Given the description of an element on the screen output the (x, y) to click on. 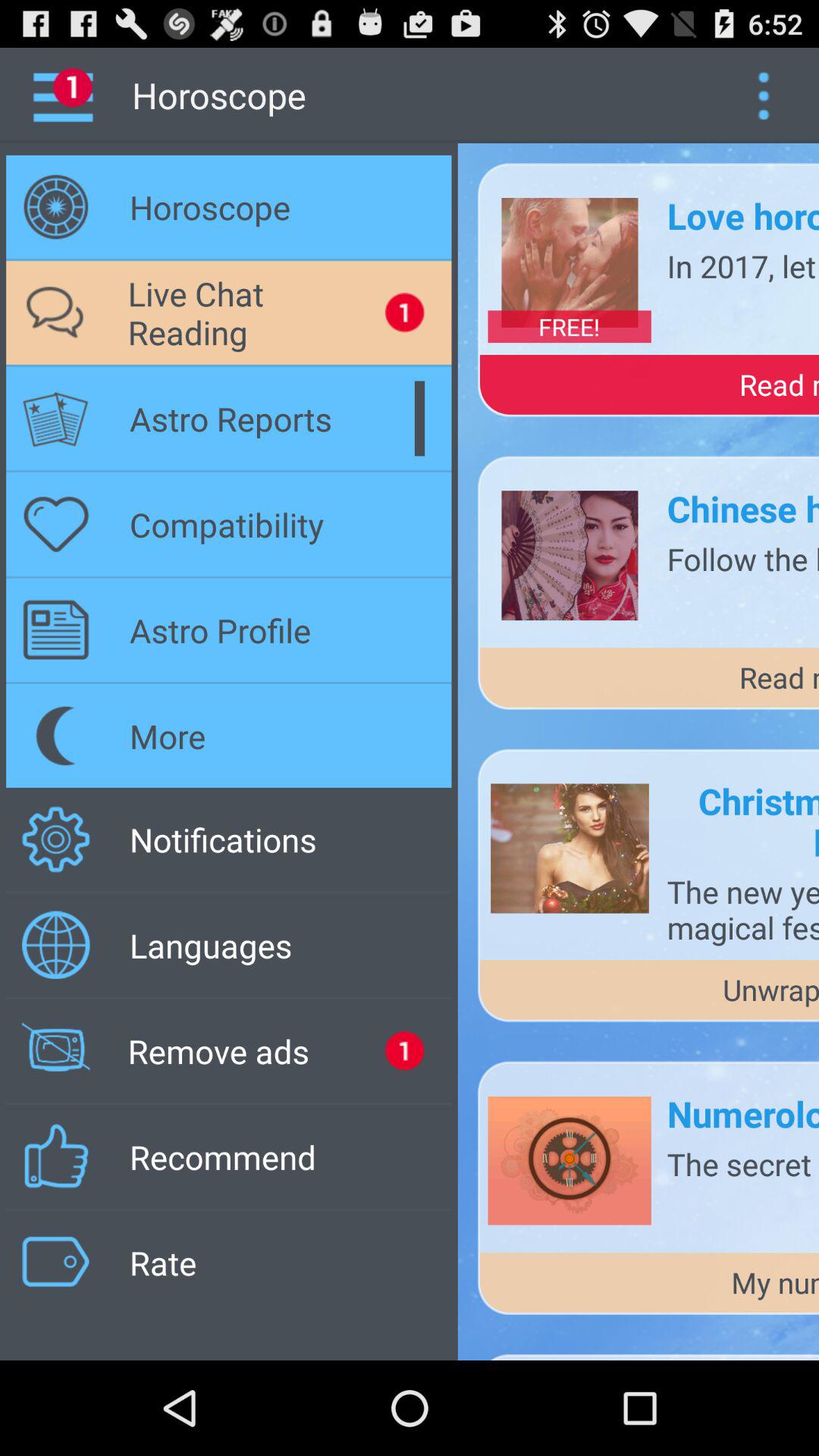
select the app below love horoscope (743, 265)
